Given the description of an element on the screen output the (x, y) to click on. 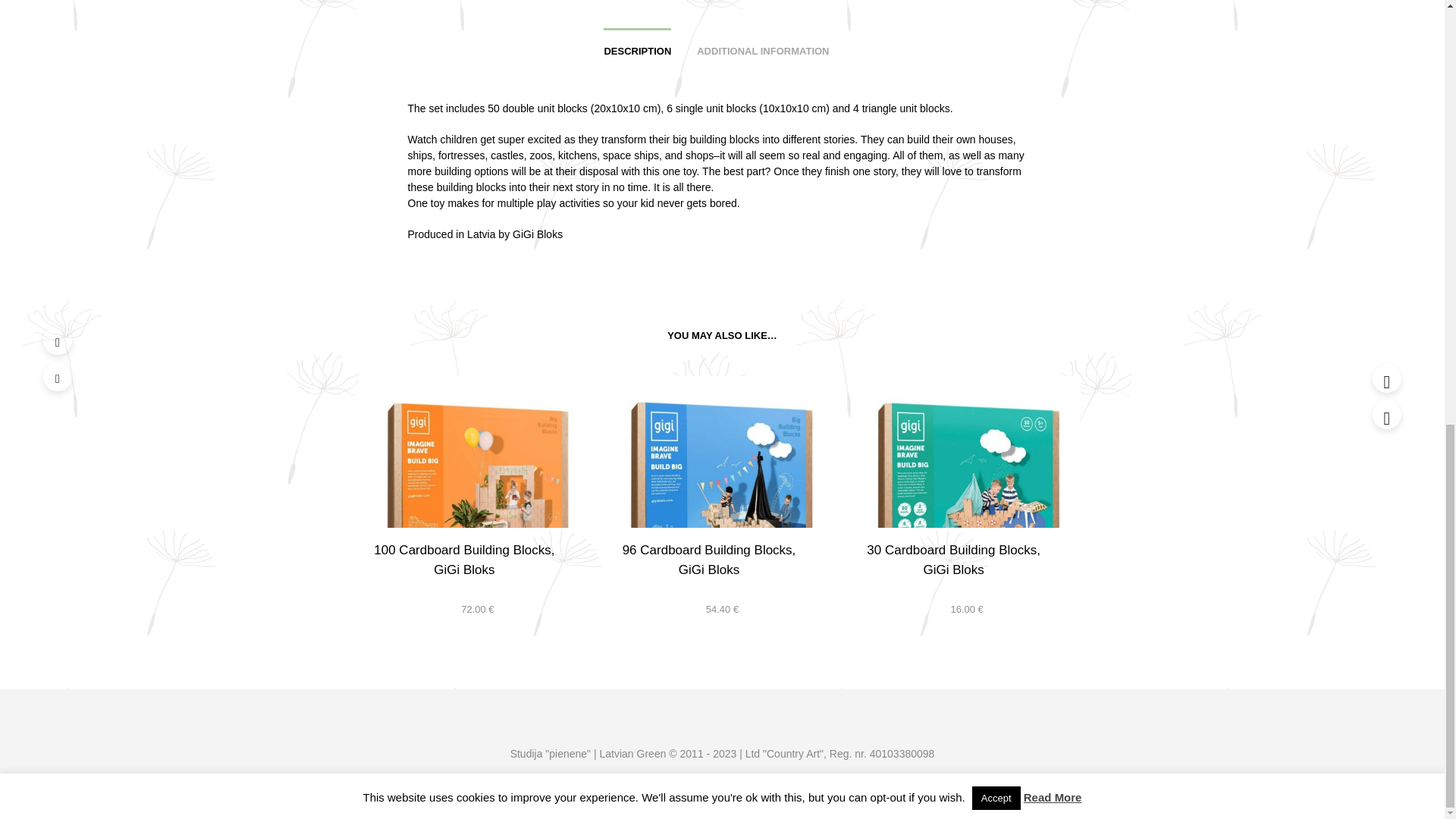
ADDITIONAL INFORMATION (762, 46)
DESCRIPTION (637, 46)
100 Cardboard Building Blocks, GiGi Bloks (464, 559)
